Given the description of an element on the screen output the (x, y) to click on. 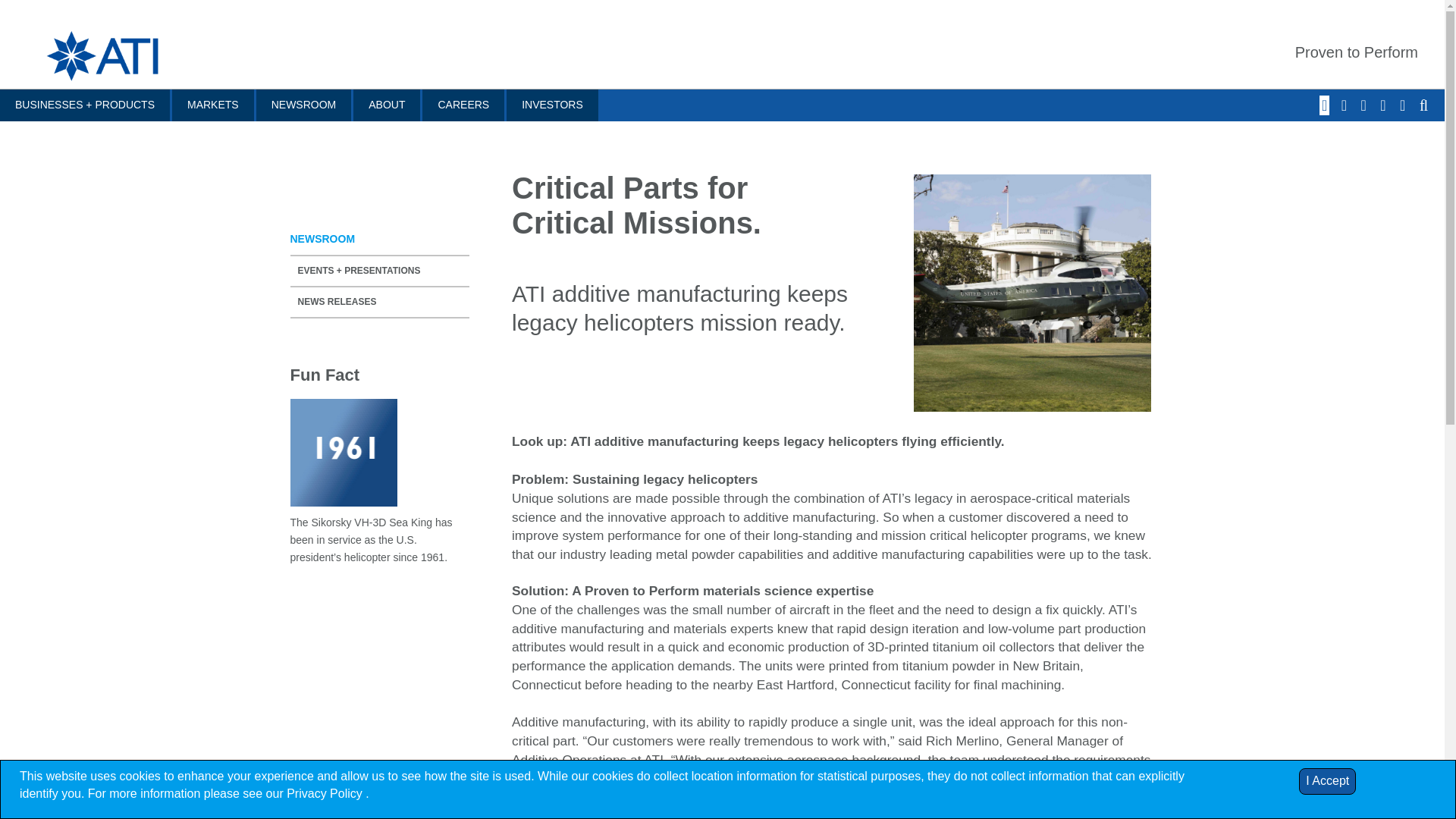
Select Language (1403, 106)
